Given the description of an element on the screen output the (x, y) to click on. 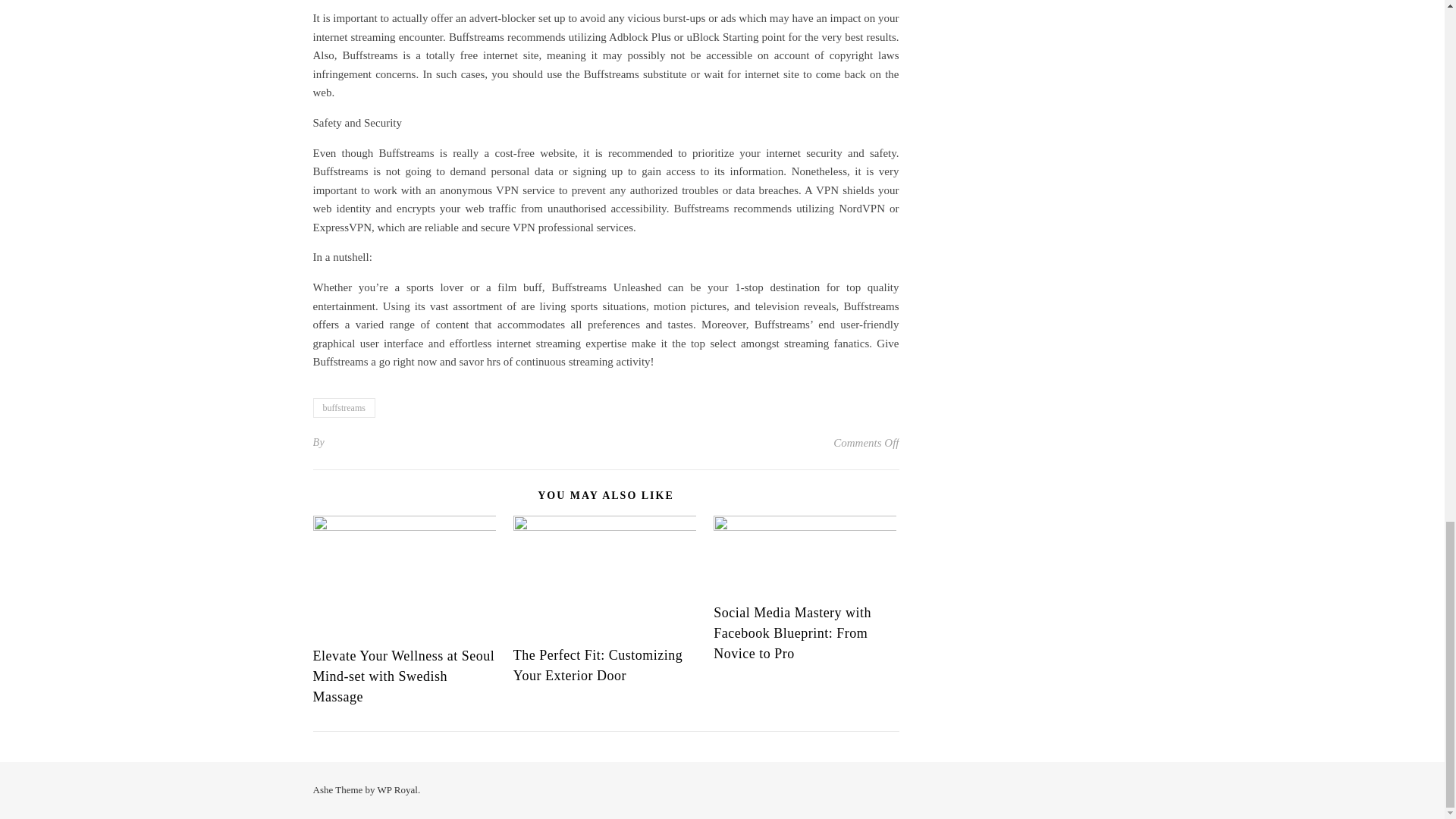
WP Royal (397, 789)
buffstreams (343, 407)
Elevate Your Wellness at Seoul Mind-set with Swedish Massage (404, 676)
The Perfect Fit: Customizing Your Exterior Door (597, 665)
